Given the description of an element on the screen output the (x, y) to click on. 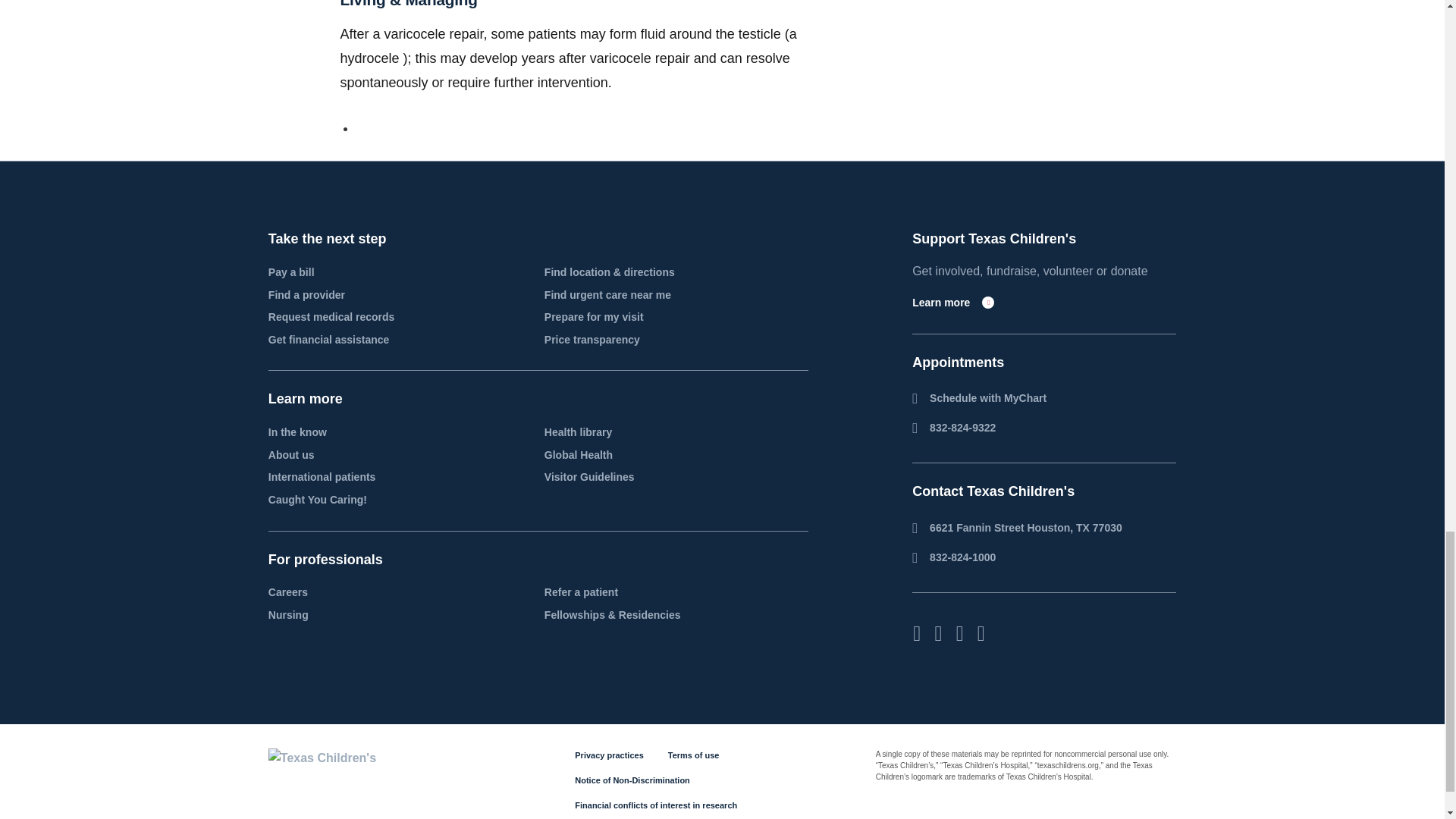
Financial conflicts of interest in research (655, 804)
Terms of use (693, 755)
Privacy practices (609, 755)
Notice of Non-Discrimination (632, 779)
